Given the description of an element on the screen output the (x, y) to click on. 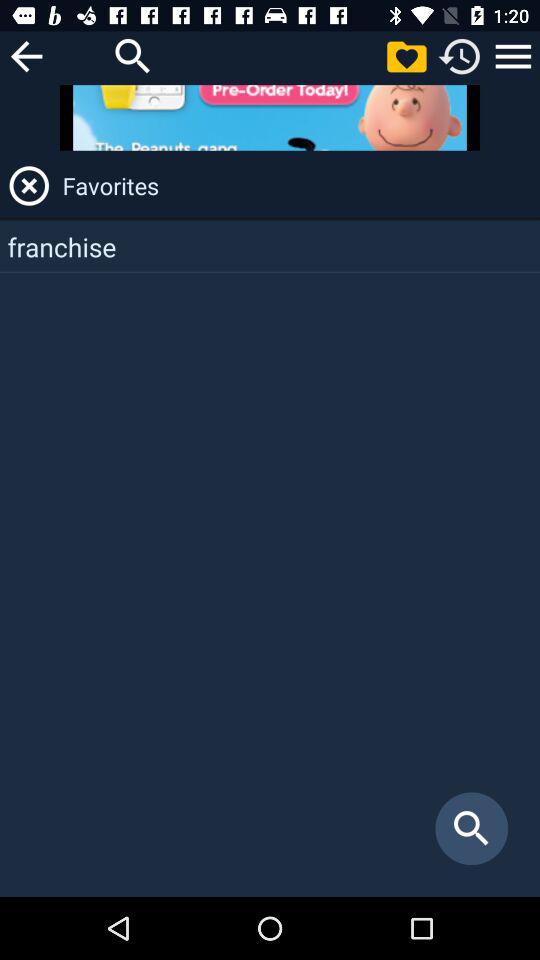
press icon below the franchise item (471, 828)
